Given the description of an element on the screen output the (x, y) to click on. 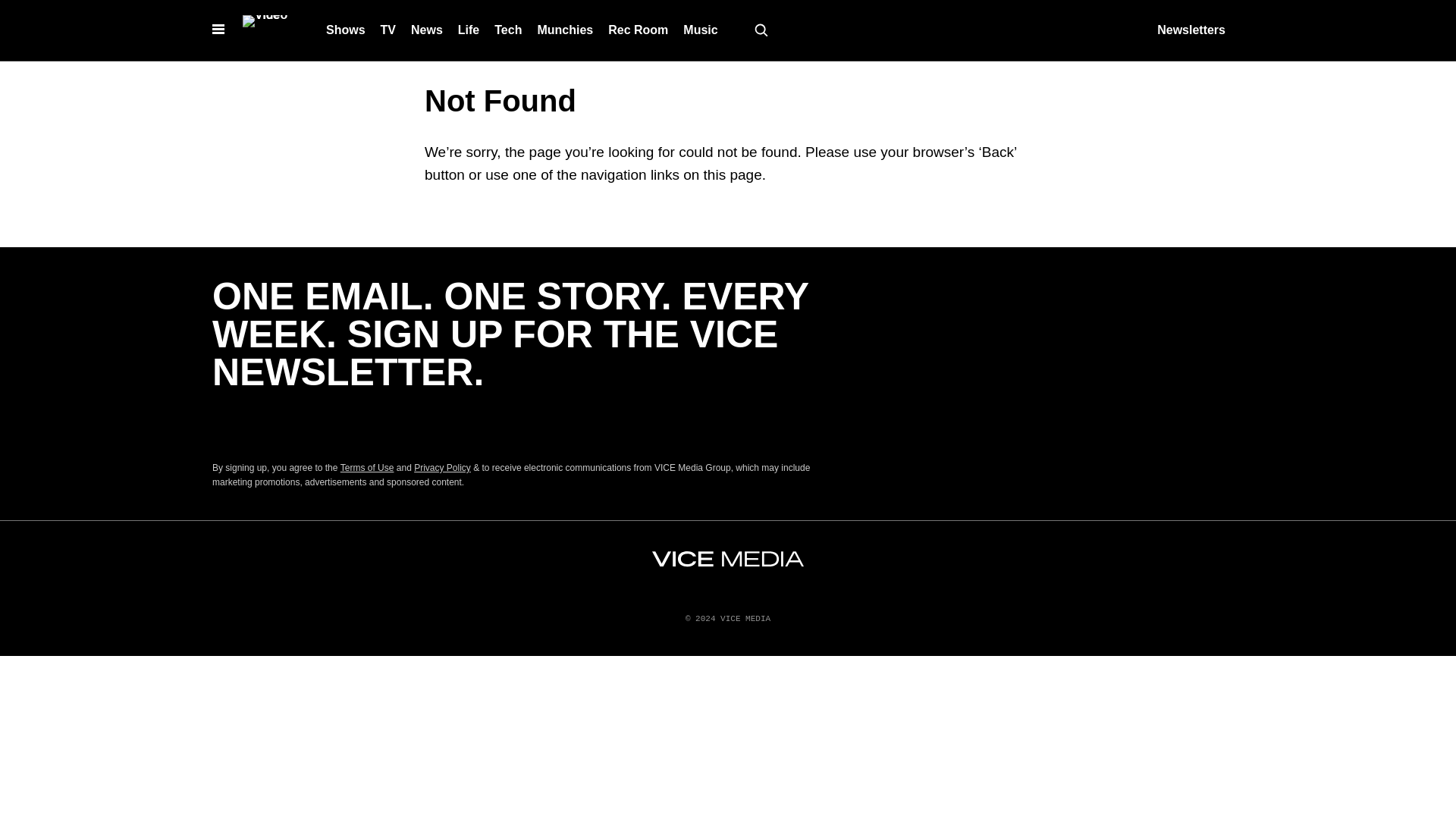
Rec Room (637, 29)
VICE MEDIA (727, 559)
Music (700, 29)
Shows (345, 29)
TV (387, 29)
Newsletters (1191, 29)
Life (467, 29)
Munchies (564, 29)
Privacy Policy (441, 467)
News (426, 29)
